Given the description of an element on the screen output the (x, y) to click on. 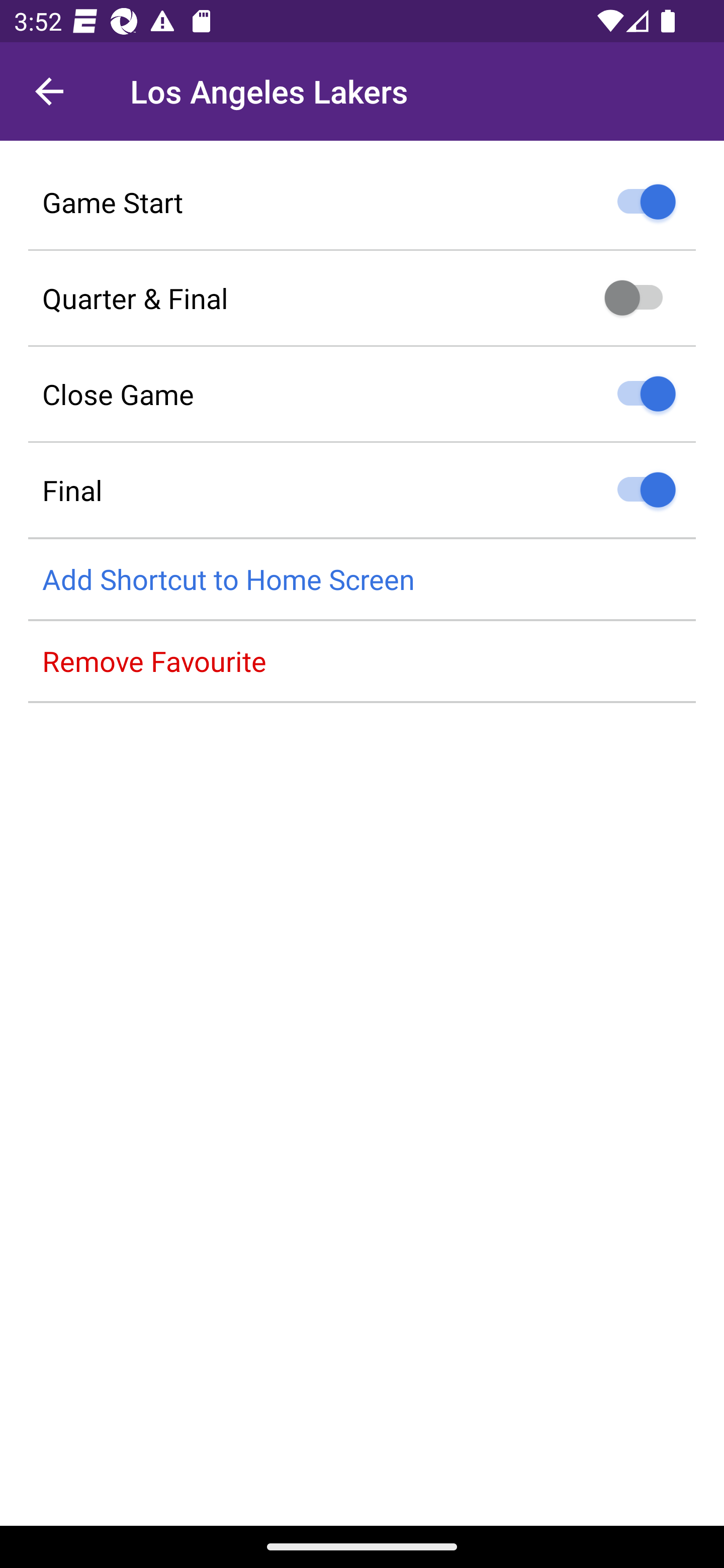
Navigate up (49, 91)
Add Shortcut to Home Screen (362, 579)
Remove Favourite (362, 661)
